Given the description of an element on the screen output the (x, y) to click on. 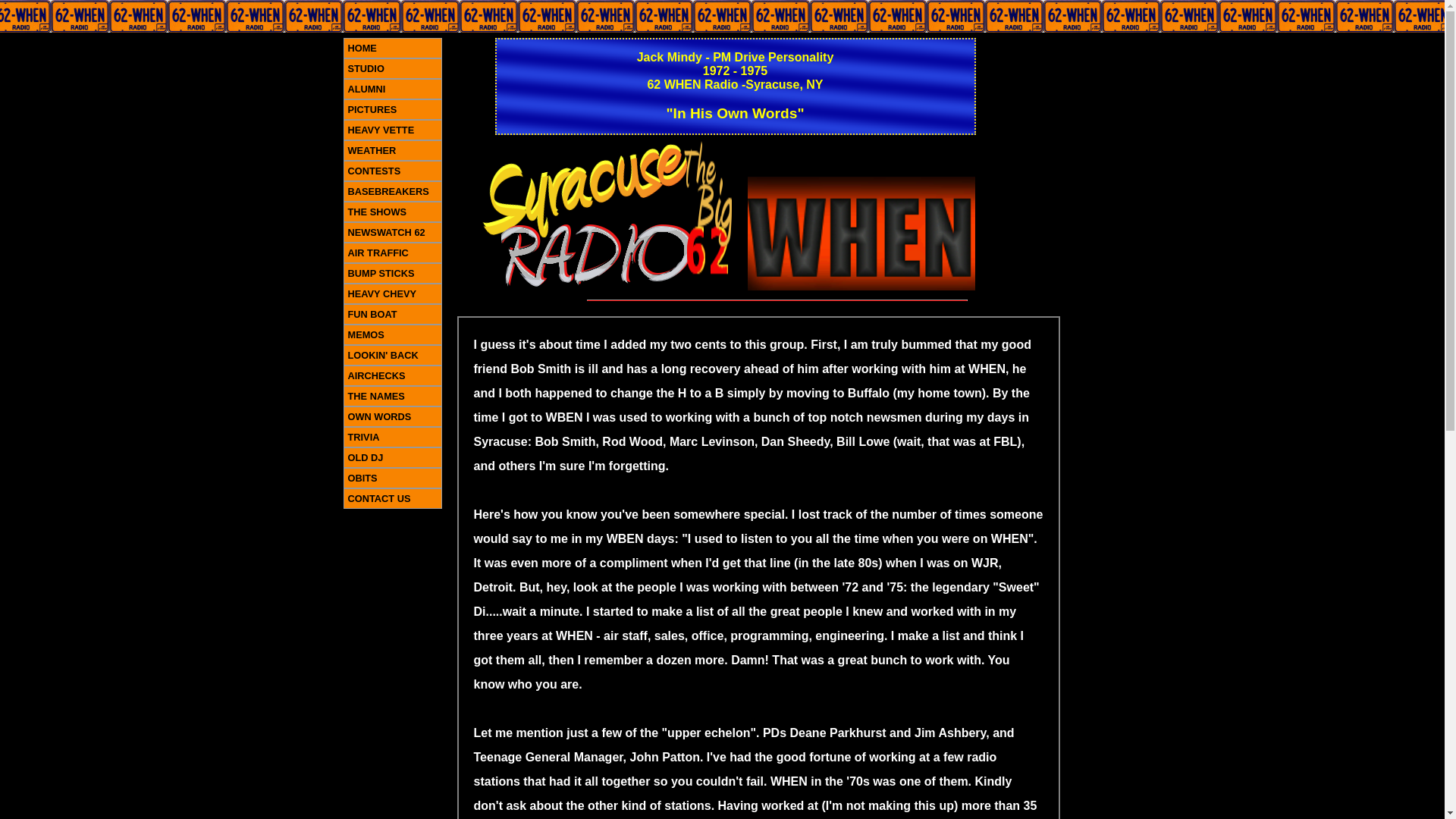
OWN WORDS (391, 416)
TRIVIA (391, 436)
WEATHER (391, 150)
NEWSWATCH 62 (391, 231)
HEAVY VETTE (391, 129)
FUN BOAT (391, 313)
CONTACT US (391, 498)
OLD DJ (391, 457)
CONTESTS (391, 170)
BASEBREAKERS (391, 190)
PICTURES (391, 109)
AIRCHECKS (391, 375)
MEMOS (391, 334)
OBITS (391, 477)
THE NAMES (391, 395)
